Given the description of an element on the screen output the (x, y) to click on. 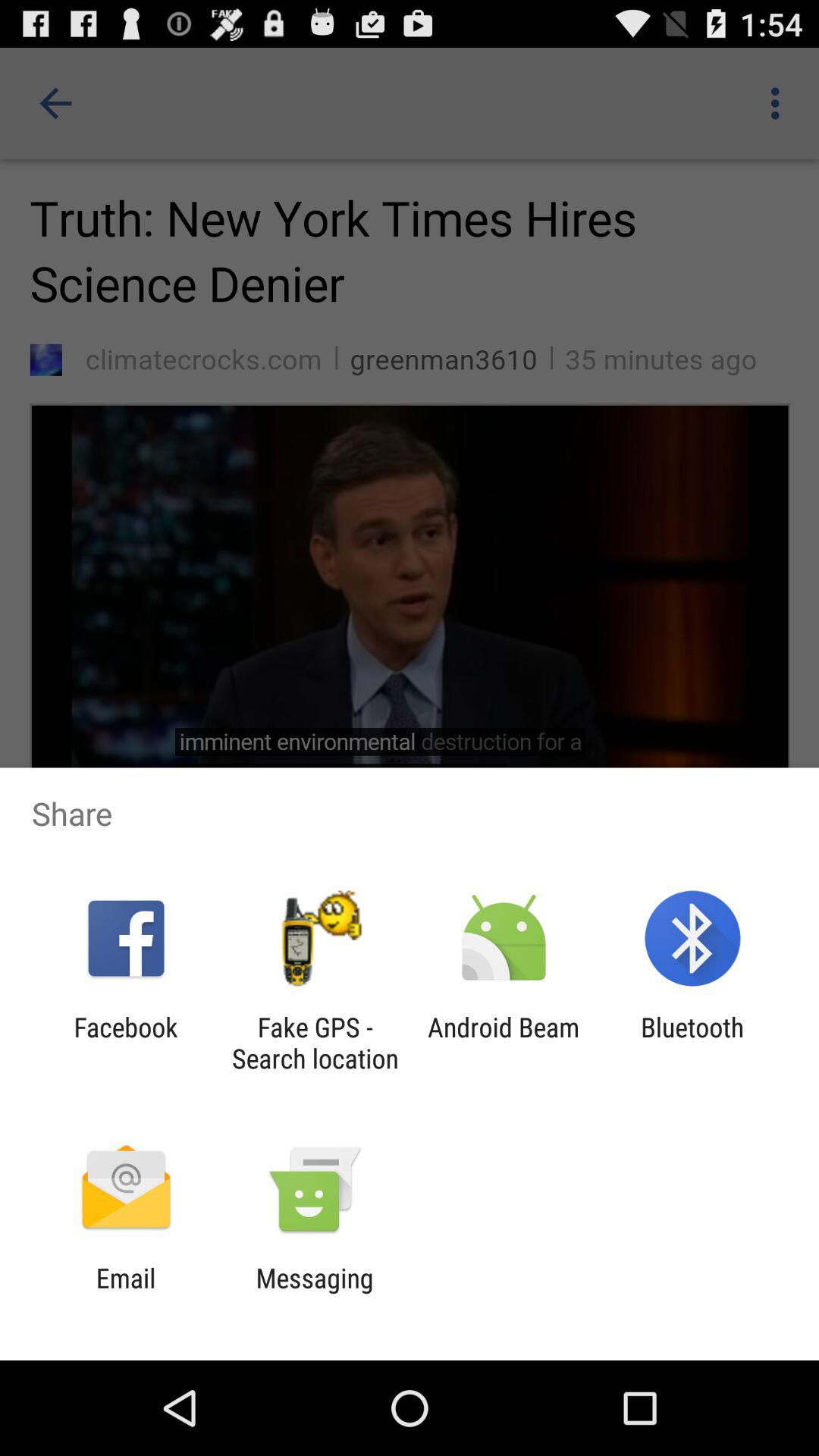
open the messaging item (314, 1293)
